Given the description of an element on the screen output the (x, y) to click on. 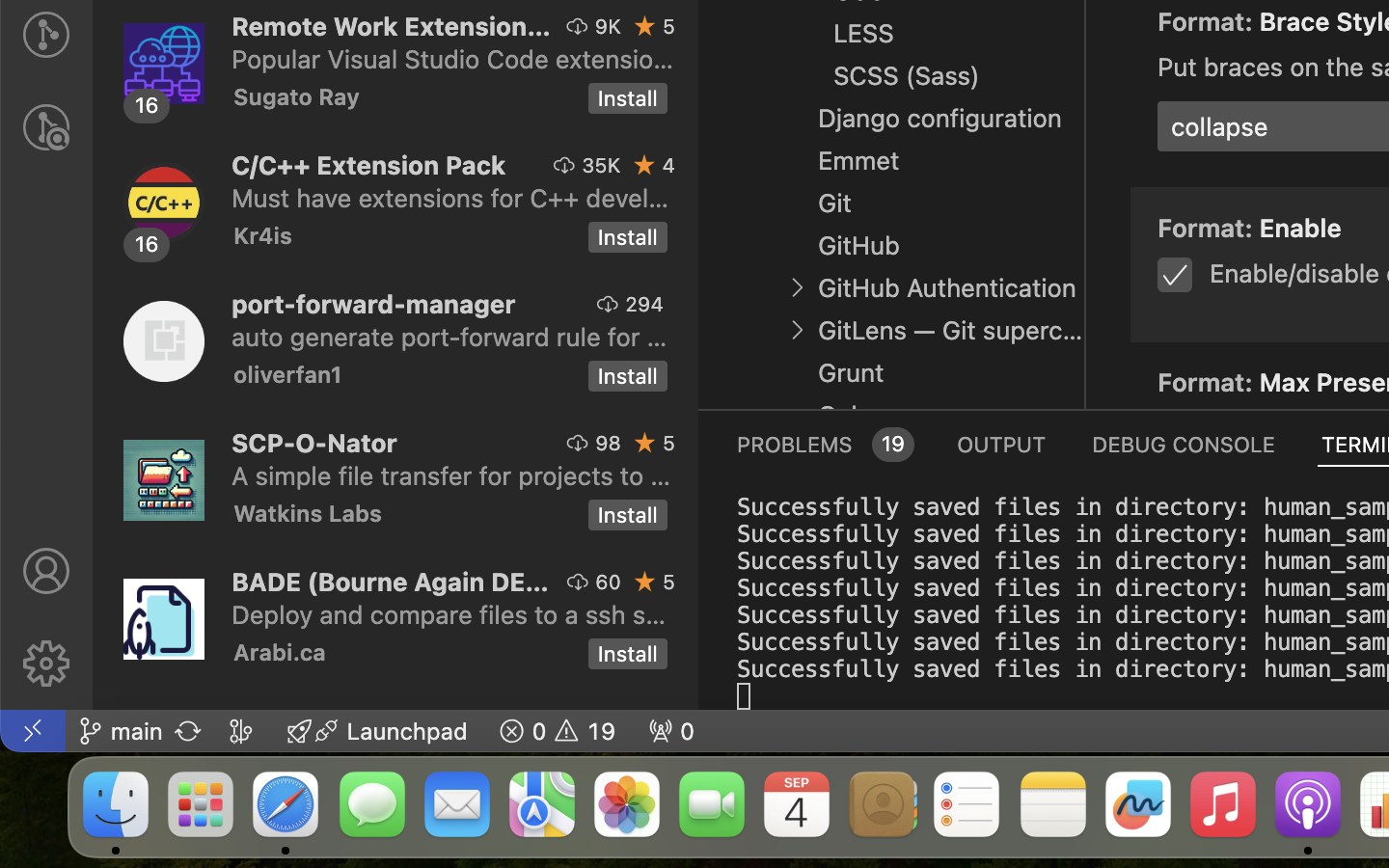
Remote Work Extension Pack Element type: AXStaticText (391, 25)
 Element type: AXStaticText (796, 329)
0 DEBUG CONSOLE Element type: AXRadioButton (1183, 443)
Emmet Element type: AXStaticText (858, 160)
0 PROBLEMS 19 Element type: AXRadioButton (824, 443)
